Given the description of an element on the screen output the (x, y) to click on. 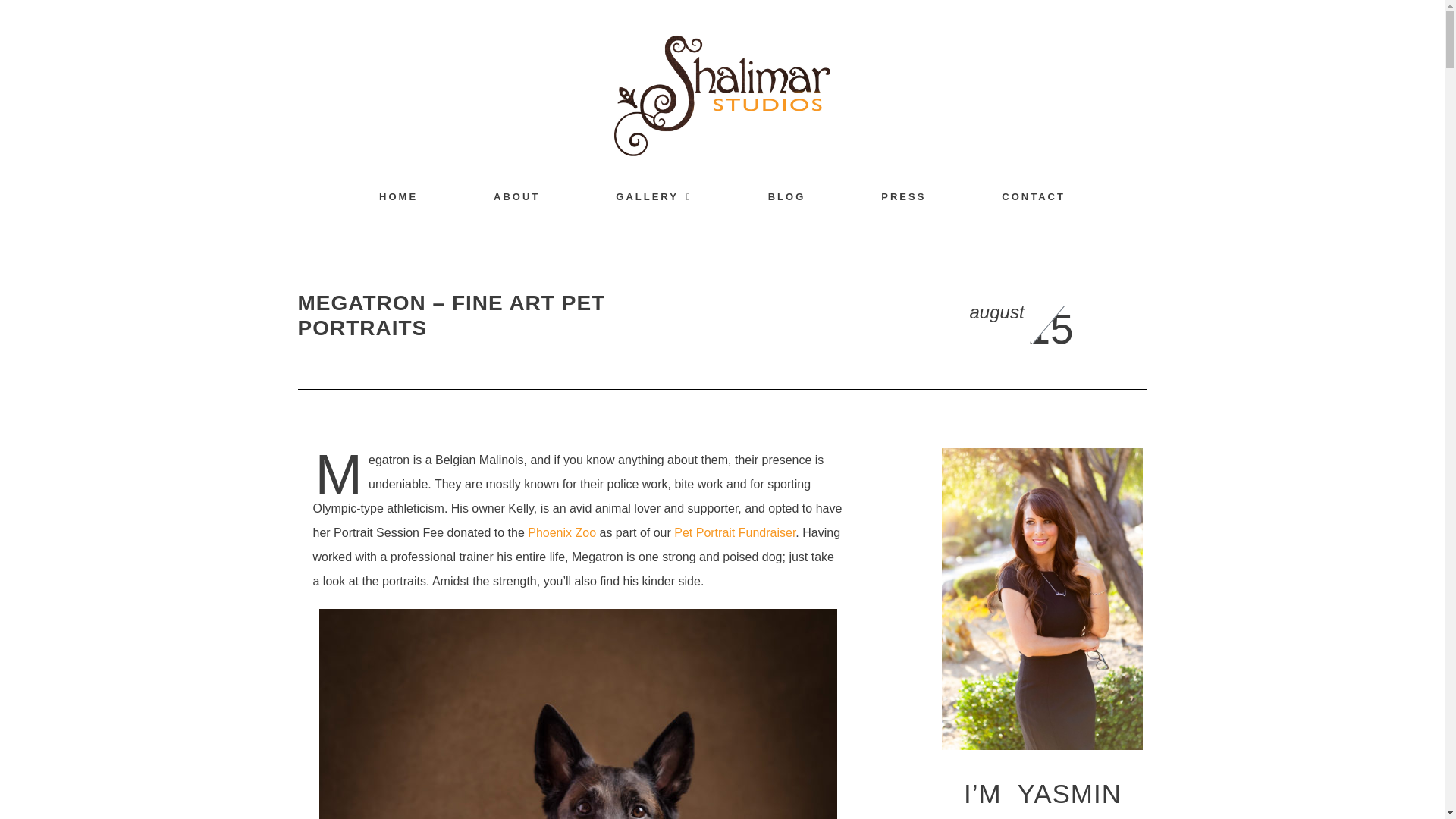
HOME (397, 196)
GALLERY (653, 196)
BLOG (787, 196)
Pet Portrait Fundraiser (734, 532)
ABOUT (516, 196)
Phoenix Zoo (561, 532)
august (996, 312)
CONTACT (1033, 196)
PRESS (903, 196)
